Given the description of an element on the screen output the (x, y) to click on. 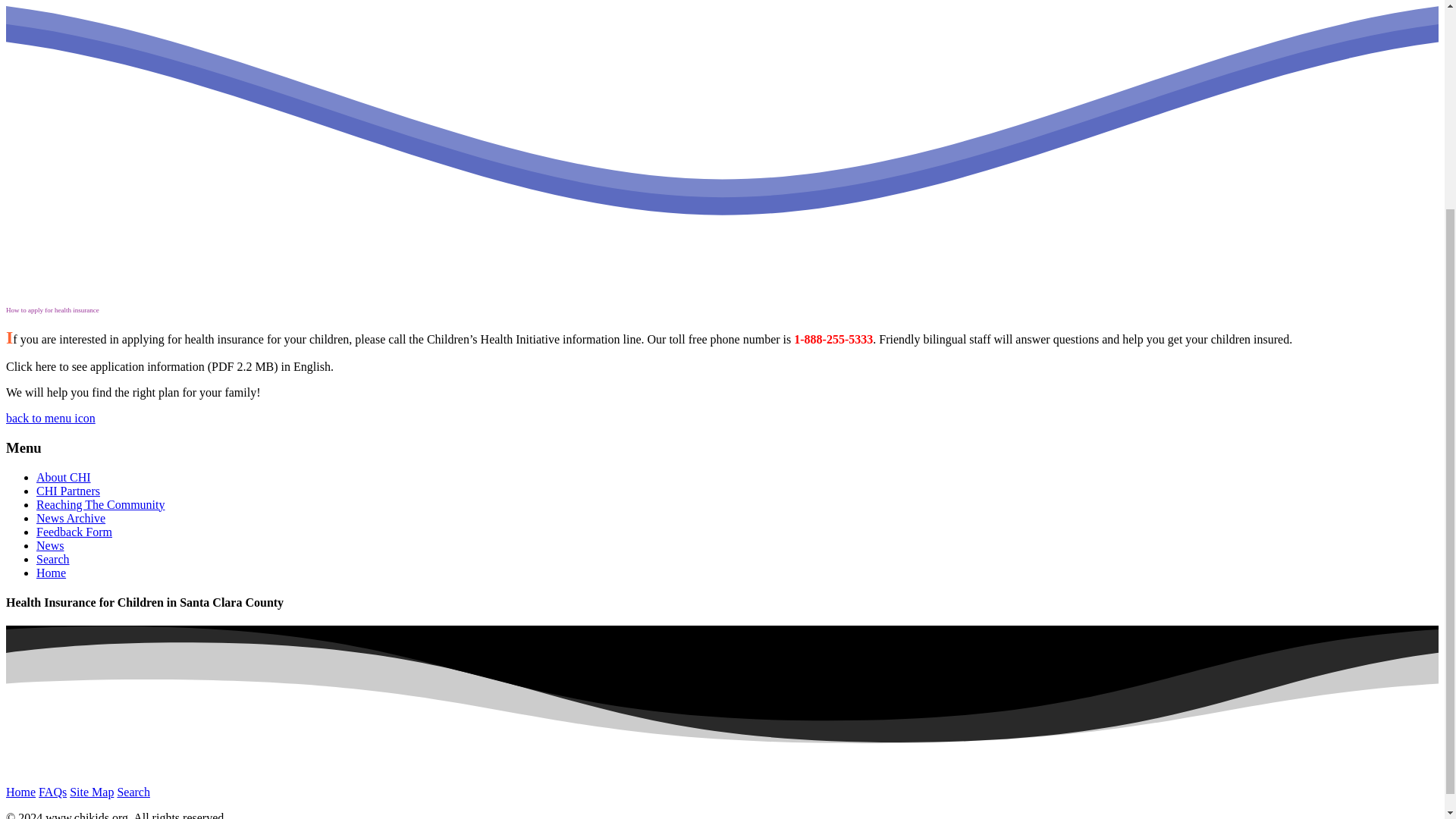
Health Insurance for Children in Santa Clara County (50, 572)
Reaching The Community (100, 504)
News (50, 545)
back to menu icon (50, 418)
CHI Partners (68, 490)
About CHI (63, 477)
Site Map (91, 791)
Home (50, 572)
Home (19, 791)
